Given the description of an element on the screen output the (x, y) to click on. 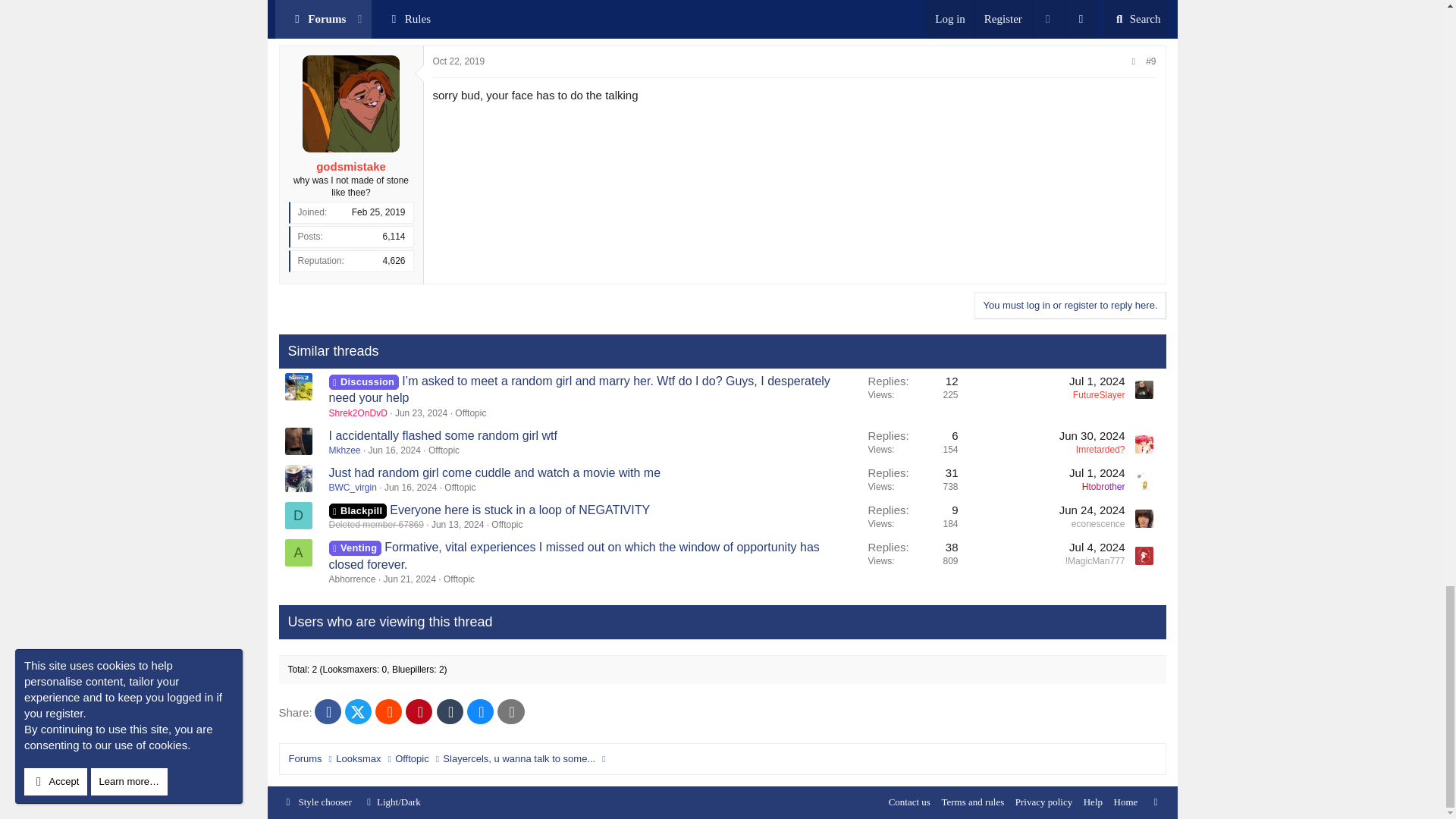
First message reaction score: 4 (912, 396)
Jun 23, 2024 at 2:26 AM (420, 412)
Oct 22, 2019 at 12:23 PM (458, 61)
Jul 1, 2024 at 11:54 PM (1096, 380)
